Given the description of an element on the screen output the (x, y) to click on. 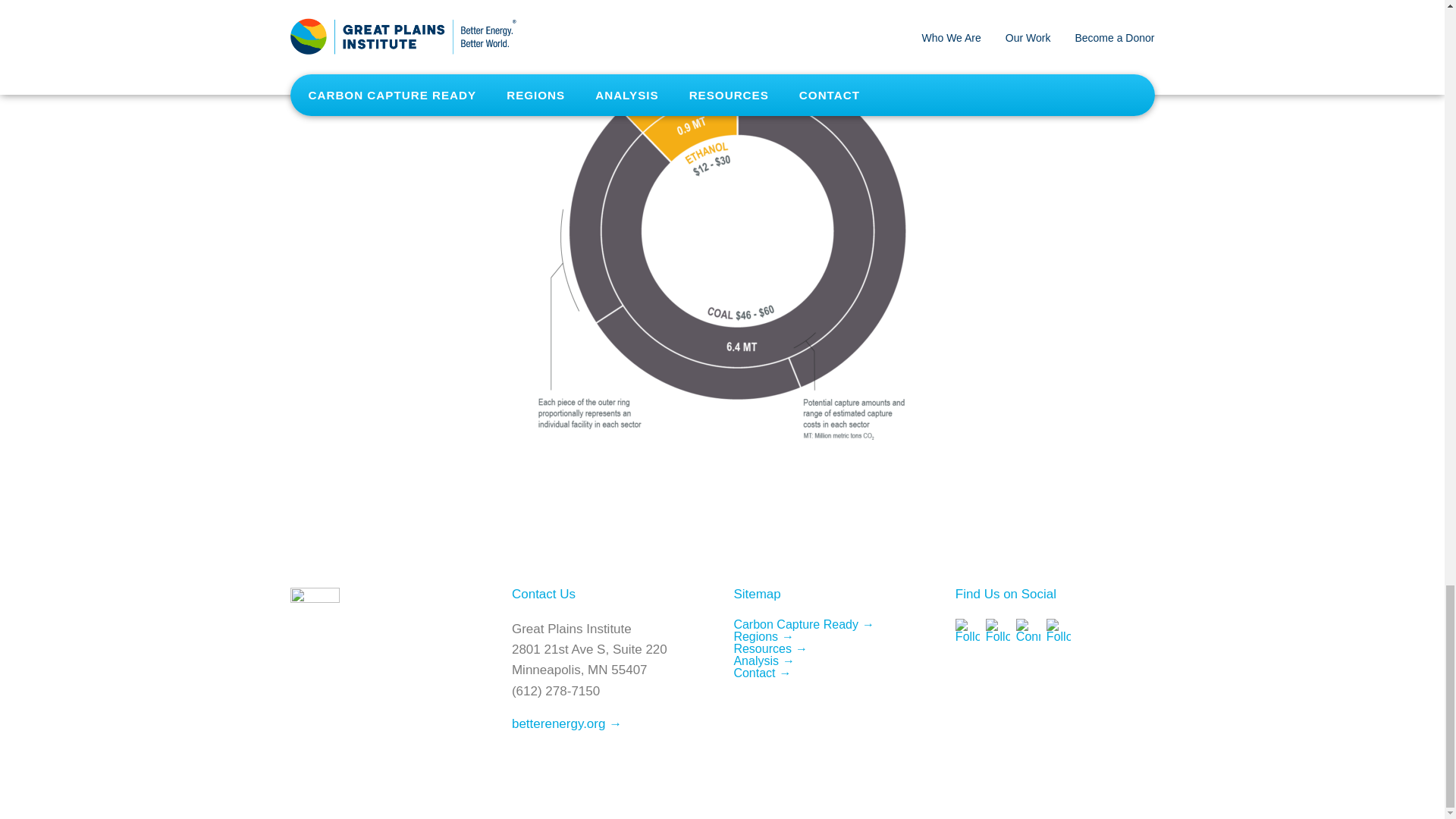
Follow us on Twitter (997, 630)
Connect with us on LinkedIn (1028, 630)
Analysis (763, 660)
Resources (769, 648)
Follow us on YouTube (1058, 630)
Follow us on Facebook (967, 630)
Contact (761, 672)
Regions (763, 635)
Contact Us (543, 594)
Carbon Capture Ready (804, 624)
